Given the description of an element on the screen output the (x, y) to click on. 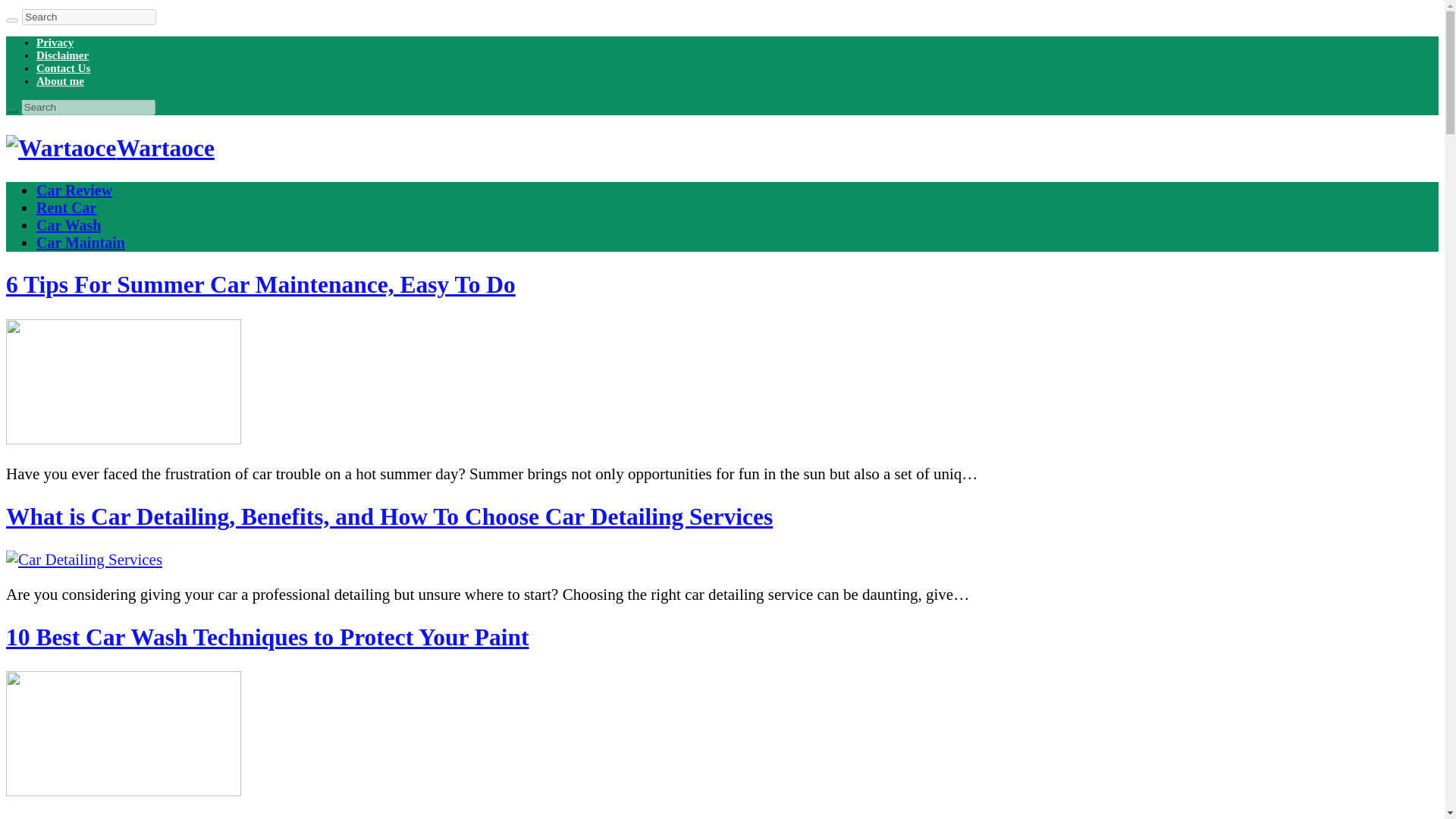
Privacy (55, 42)
Search (88, 107)
Car Wash (68, 225)
Search (88, 17)
Search (88, 17)
Car Review (74, 190)
Wartaoce (109, 148)
Search (88, 107)
Search (11, 20)
